Given the description of an element on the screen output the (x, y) to click on. 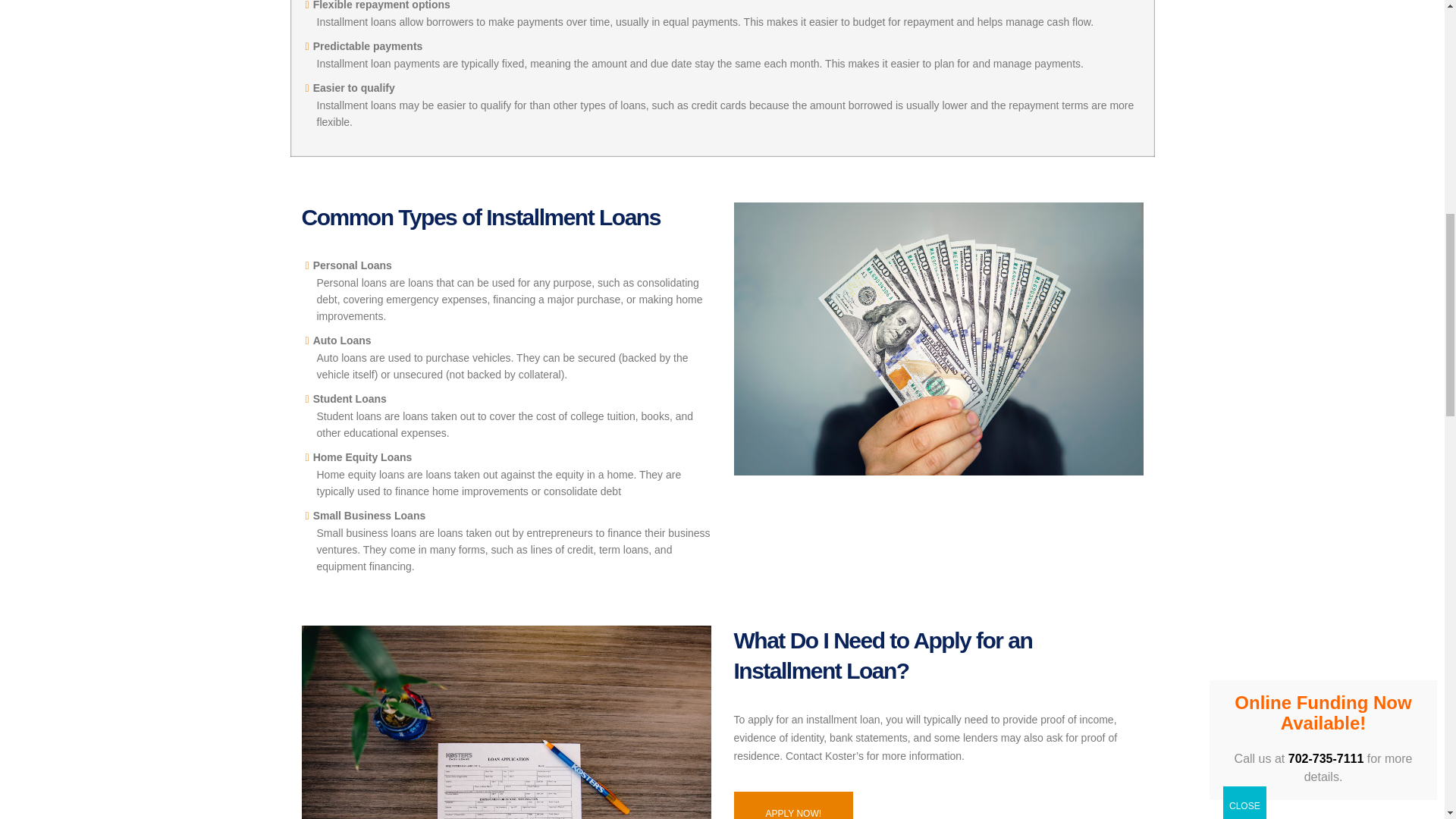
APPLY NOW! (793, 805)
Koster's (506, 722)
hand holding hundred dollar bills (937, 338)
CLOSE (1244, 3)
